Given the description of an element on the screen output the (x, y) to click on. 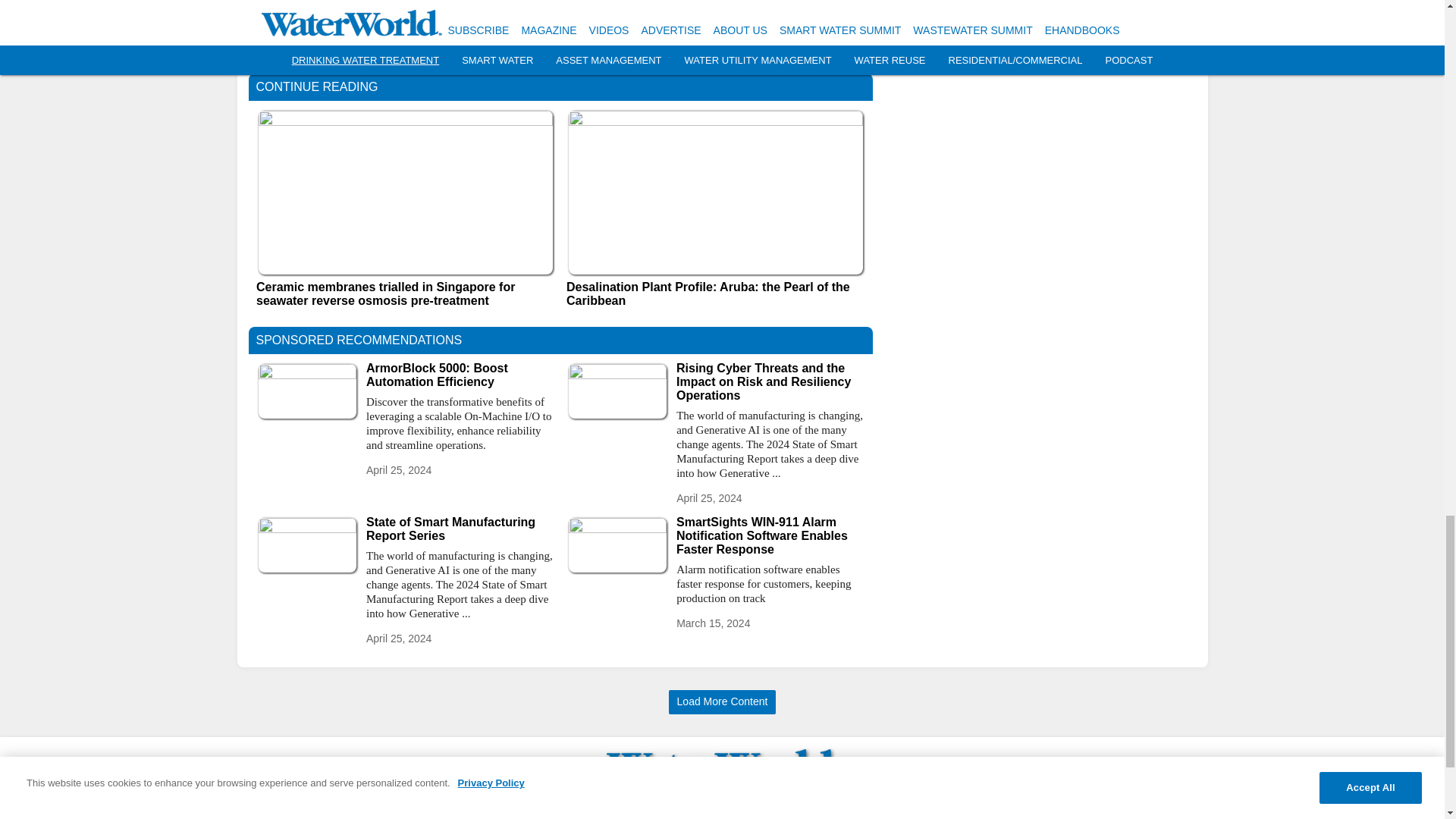
ArmorBlock 5000: Boost Automation Efficiency (459, 375)
State of Smart Manufacturing Report Series (459, 528)
